Given the description of an element on the screen output the (x, y) to click on. 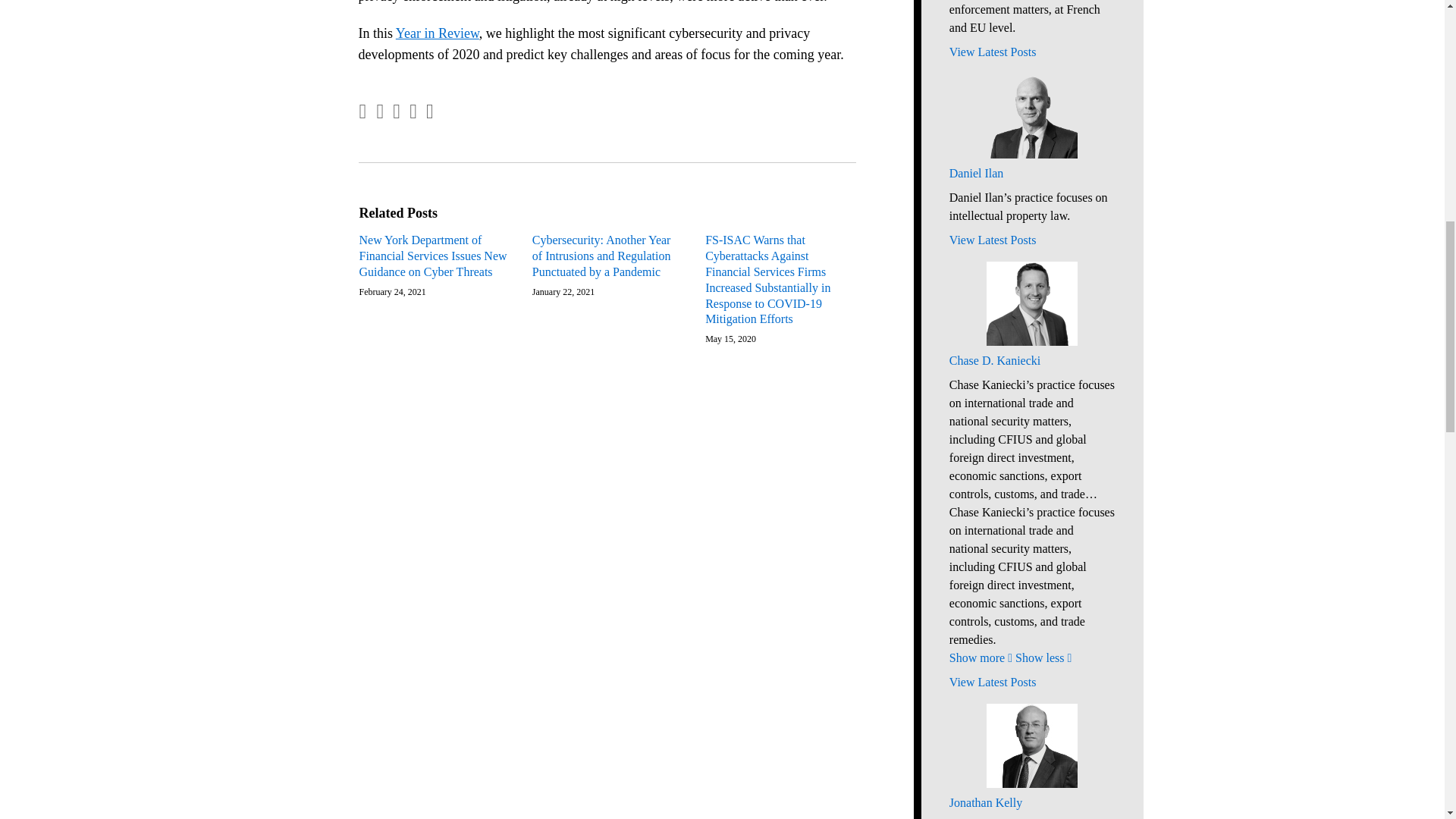
View Latest Posts (1032, 682)
Show less (1042, 657)
Year in Review (437, 32)
View Latest Posts (1032, 239)
View Latest Posts (1032, 52)
Daniel Ilan (1032, 173)
Jonathan Kelly (1032, 802)
Show more (980, 657)
